Given the description of an element on the screen output the (x, y) to click on. 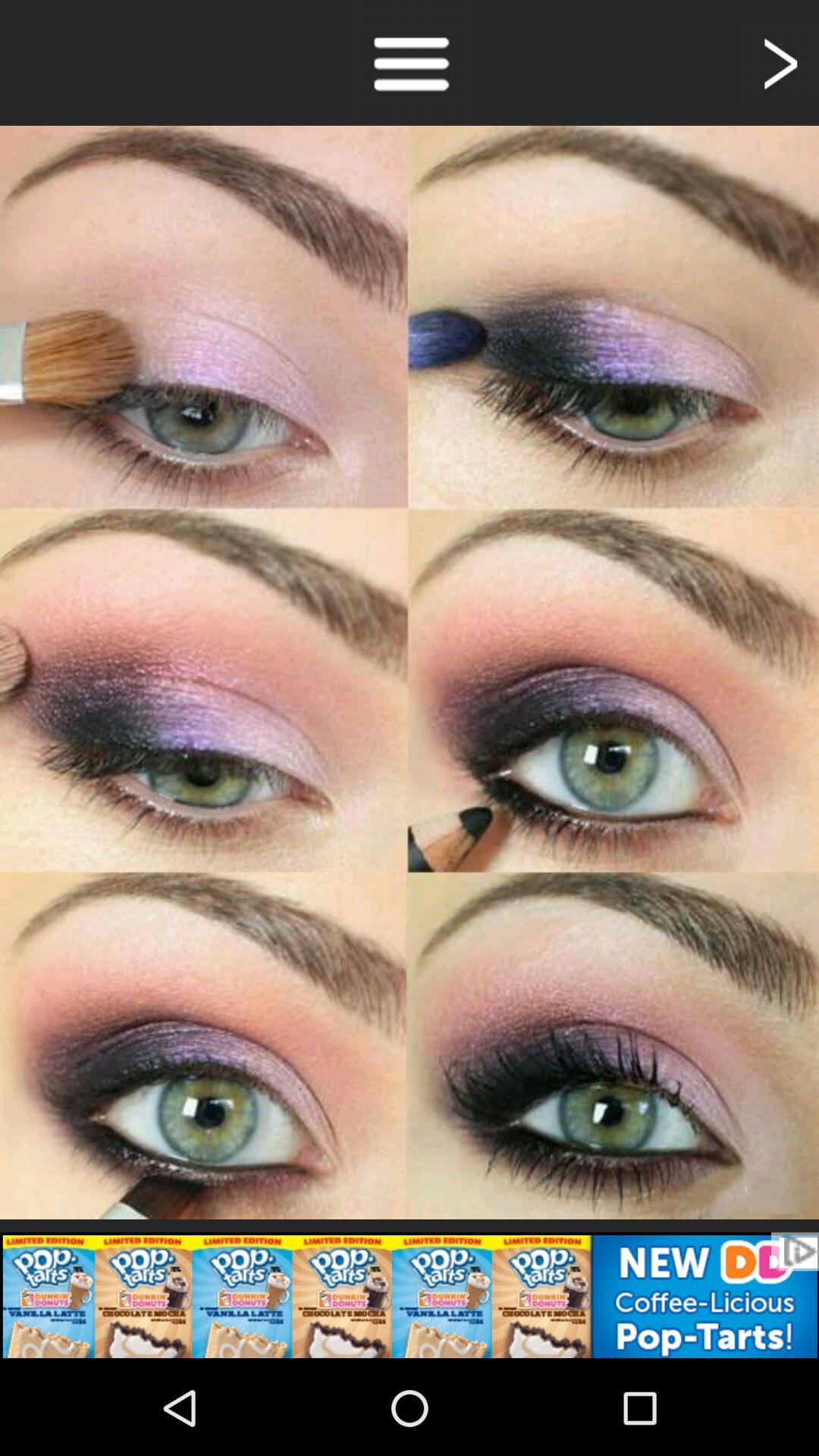
go to next page (778, 62)
